Given the description of an element on the screen output the (x, y) to click on. 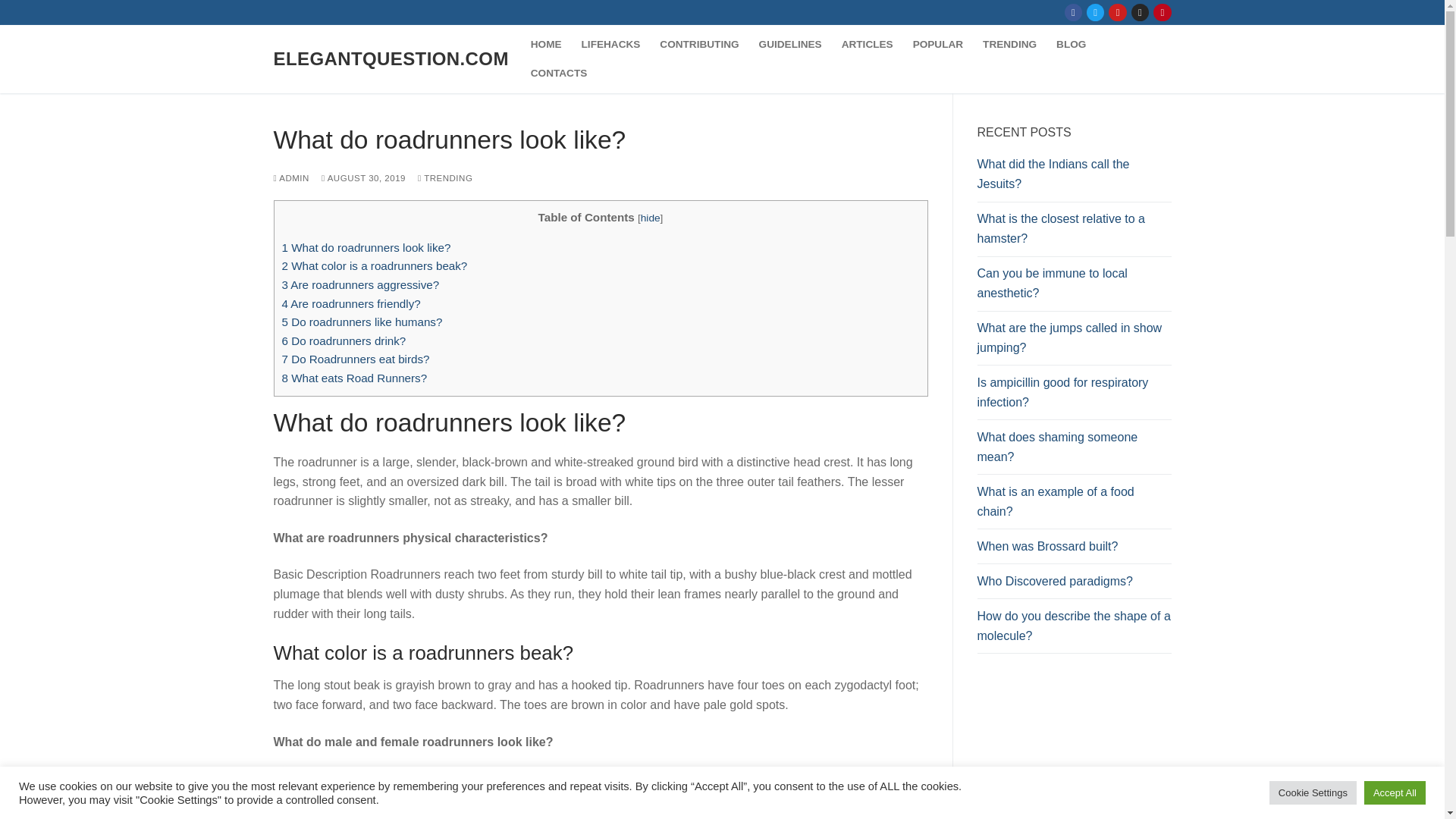
Twitter (1095, 12)
Pinterest (1162, 12)
AUGUST 30, 2019 (363, 177)
CONTRIBUTING (698, 44)
Facebook (1073, 12)
ELEGANTQUESTION.COM (390, 58)
ARTICLES (866, 44)
2 What color is a roadrunners beak? (374, 265)
HOME (546, 44)
1 What do roadrunners look like? (366, 246)
